Given the description of an element on the screen output the (x, y) to click on. 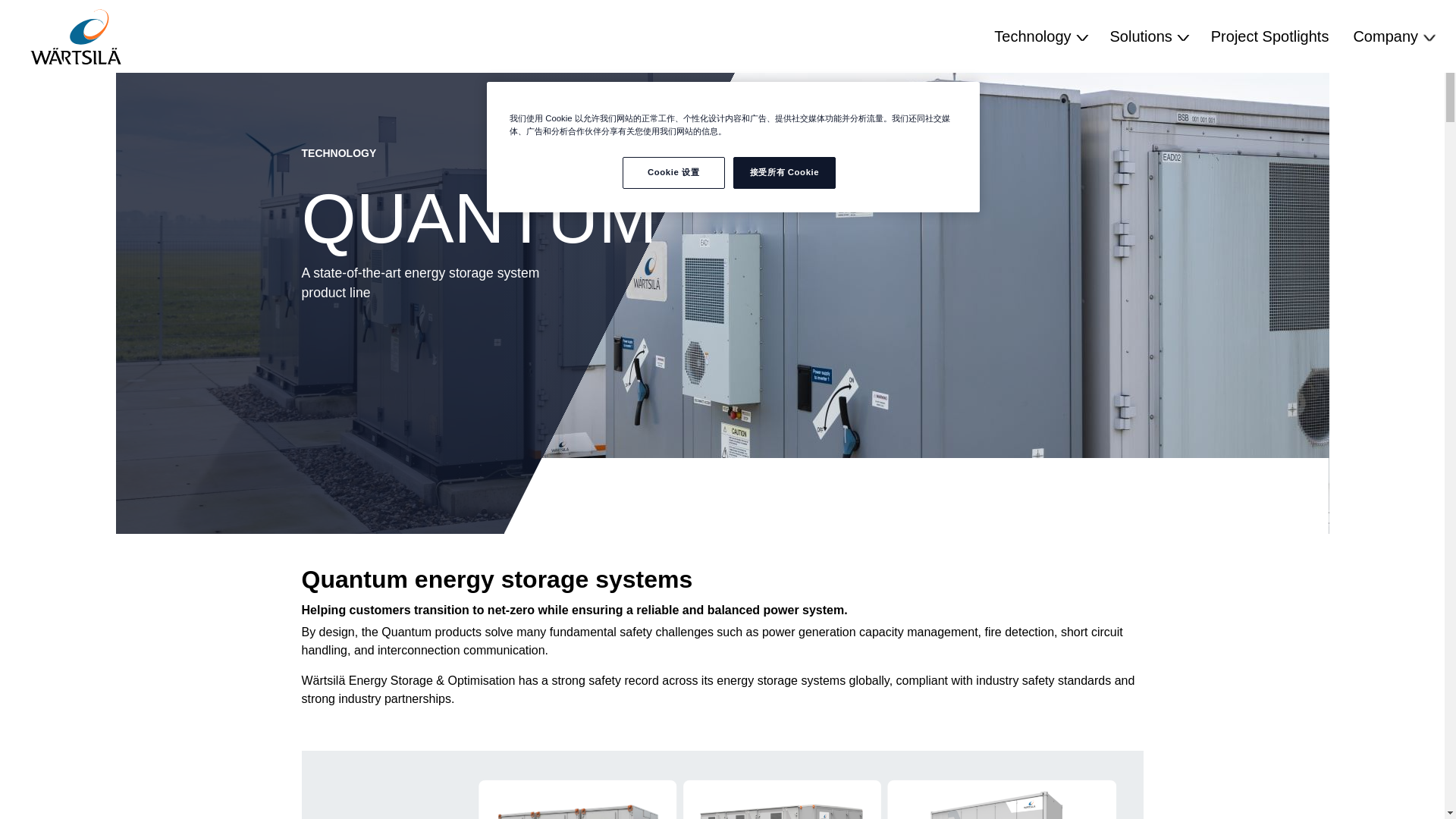
Technology (1039, 36)
Solutions (1147, 36)
Project Spotlights (1270, 36)
Company (1392, 36)
